Given the description of an element on the screen output the (x, y) to click on. 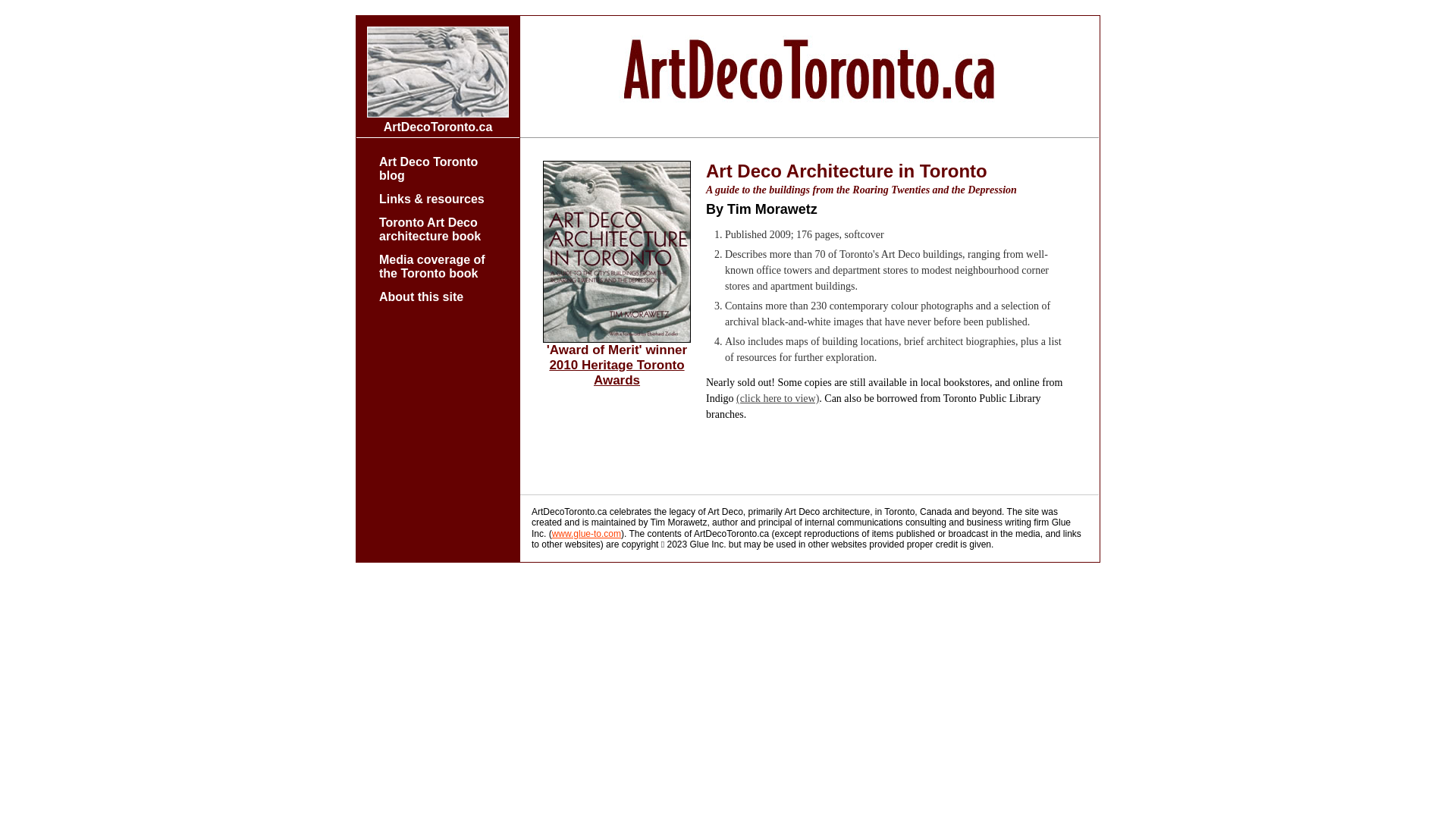
Toronto Art Deco architecture book Element type: text (429, 227)
Art Deco Toronto
blog Element type: text (428, 167)
Links & resources Element type: text (431, 197)
Media coverage of
the Toronto book Element type: text (432, 264)
(click here to view) Element type: text (777, 398)
2010 Heritage Toronto
Awards Element type: text (616, 372)
About this site Element type: text (421, 295)
www.glue-to.com Element type: text (586, 533)
